Given the description of an element on the screen output the (x, y) to click on. 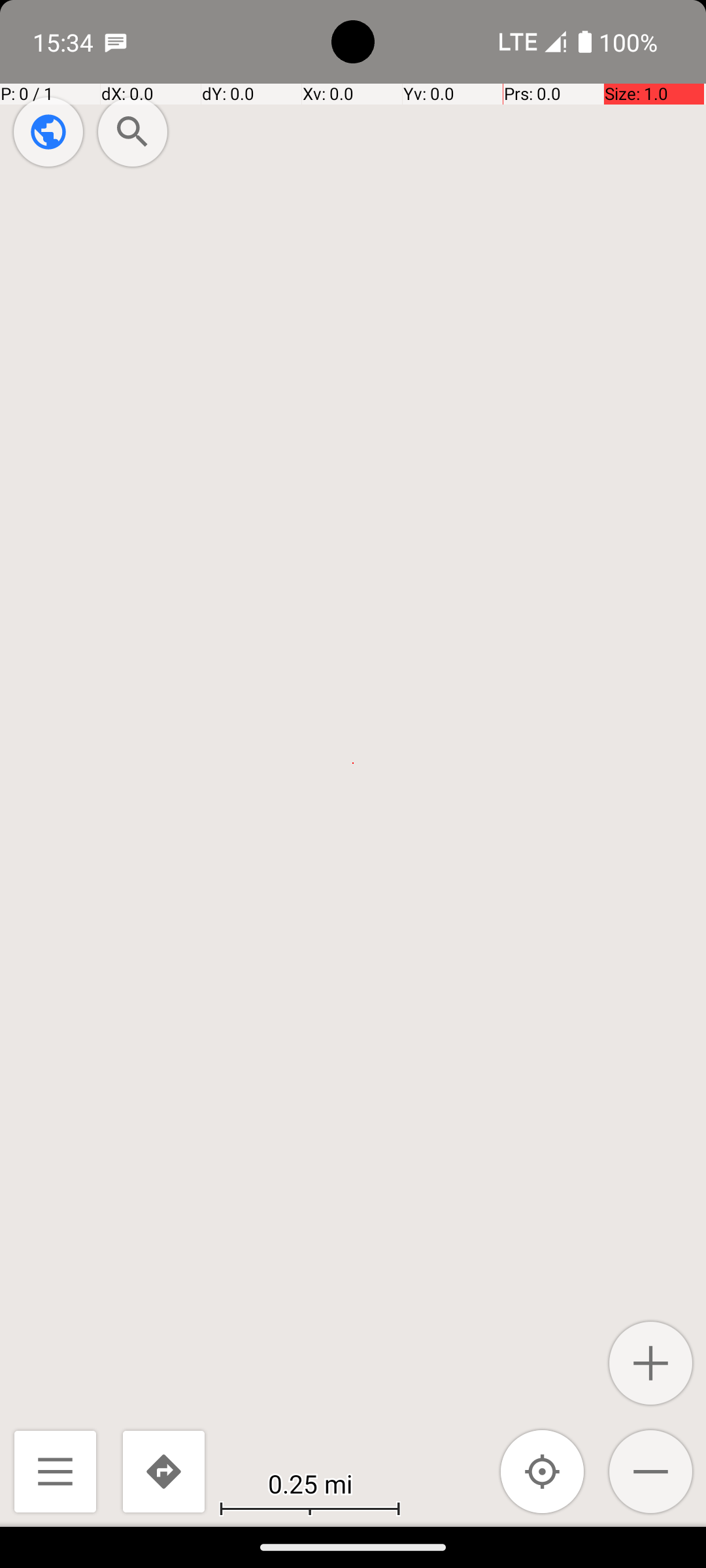
0.25 mi Element type: android.widget.TextView (309, 1483)
